Given the description of an element on the screen output the (x, y) to click on. 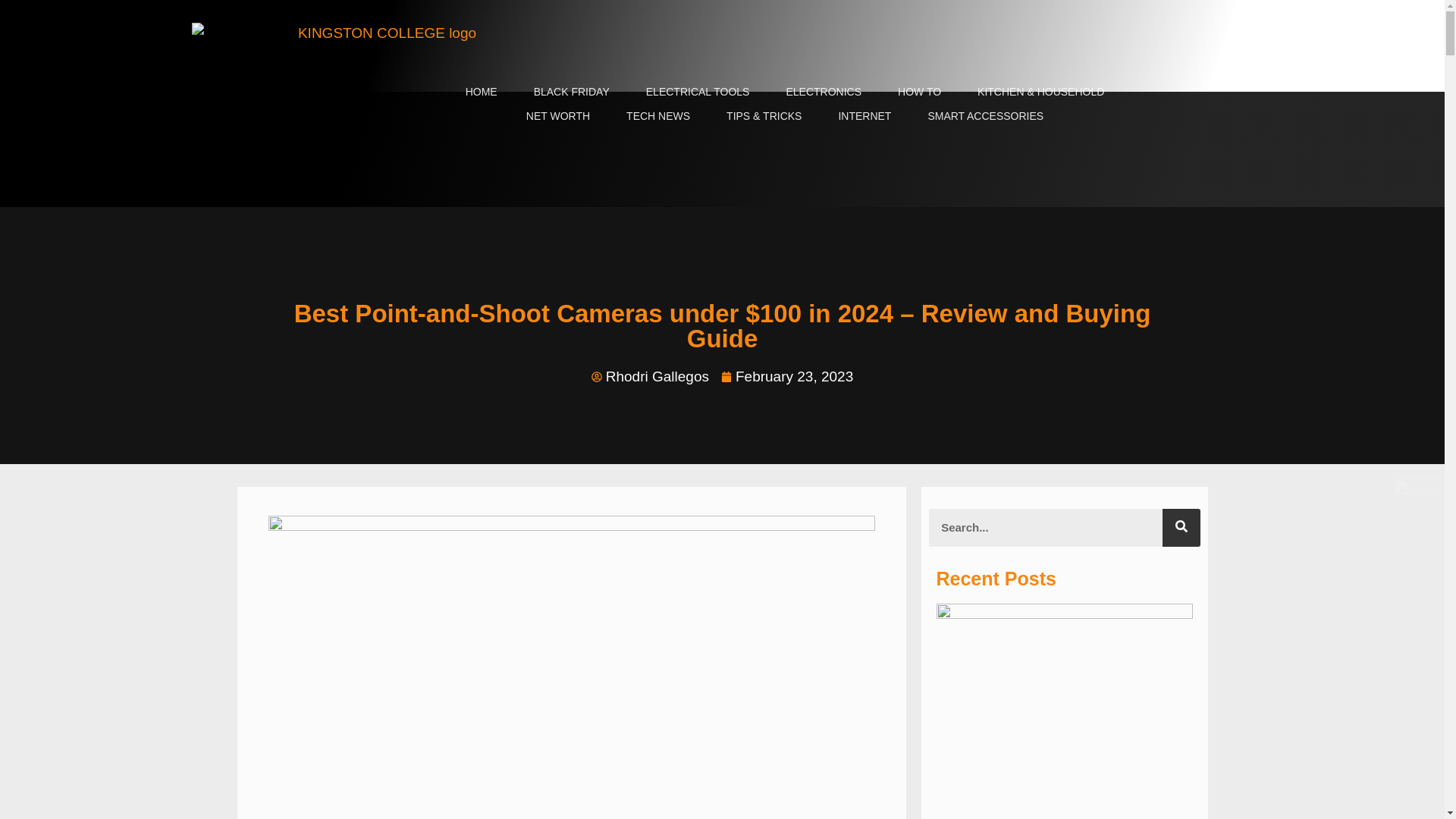
NET WORTH (558, 115)
ELECTRICAL TOOLS (697, 90)
BLACK FRIDAY (571, 90)
Rhodri Gallegos (650, 377)
TECH NEWS (657, 115)
INTERNET (863, 115)
HOW TO (919, 90)
ELECTRONICS (823, 90)
SMART ACCESSORIES (984, 115)
HOME (480, 90)
February 23, 2023 (786, 377)
